Given the description of an element on the screen output the (x, y) to click on. 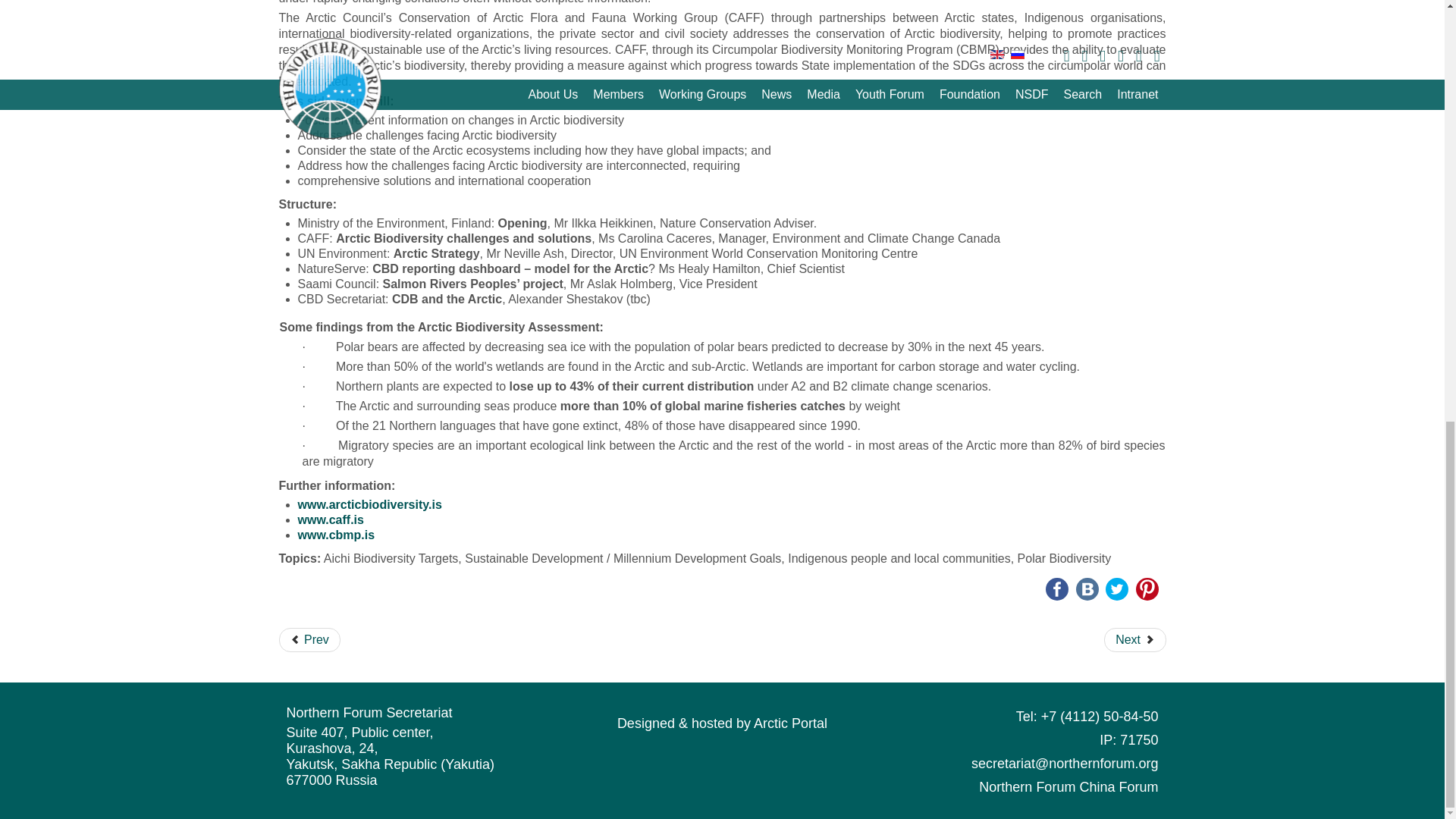
Twitter (1116, 588)
Vkontakte (1087, 588)
Arctic Portal (722, 722)
Pinterest (1146, 588)
Northern Forum China Forum (1067, 785)
FaceBook (1056, 588)
